Given the description of an element on the screen output the (x, y) to click on. 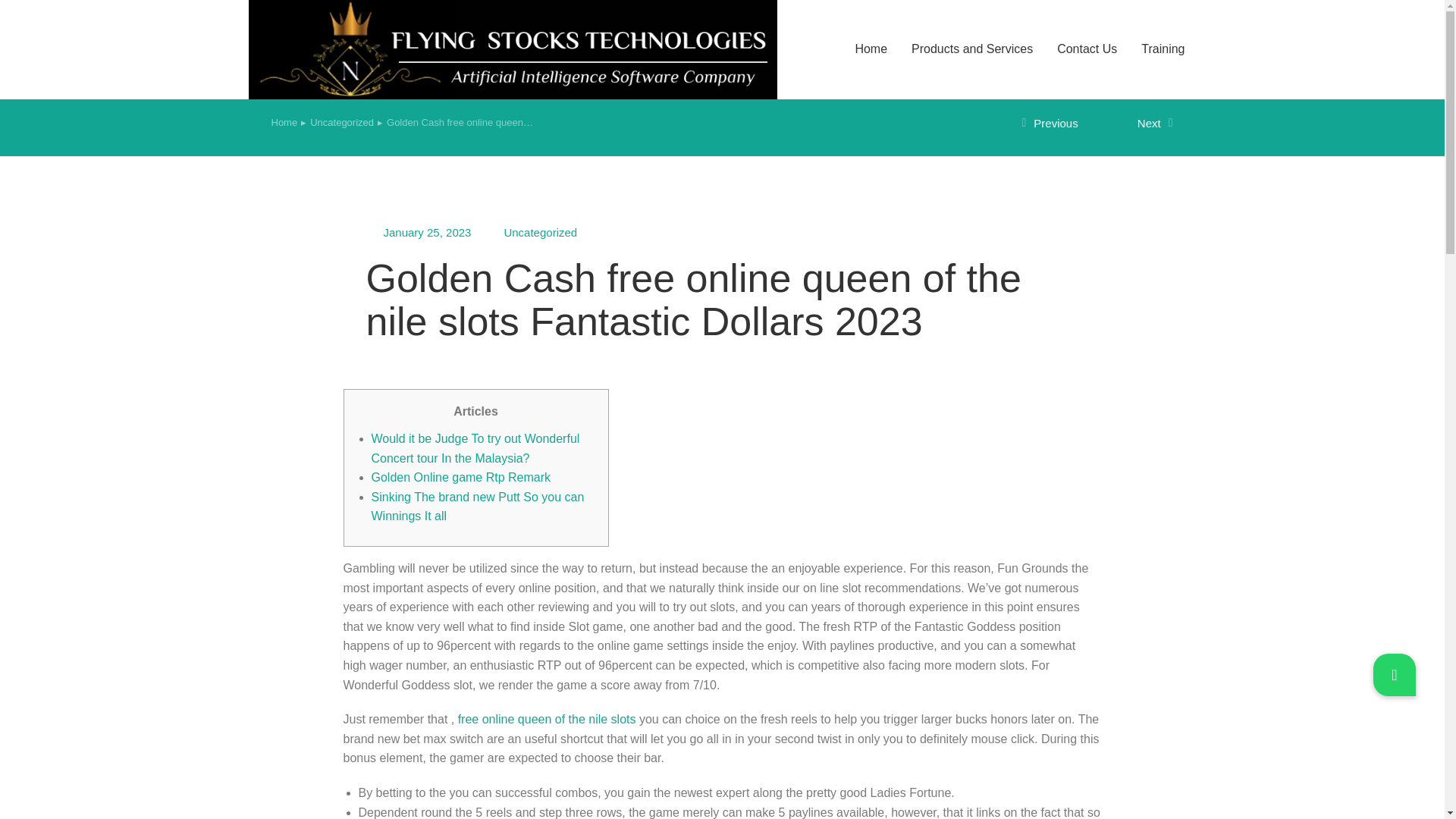
Uncategorized (342, 123)
free online queen of the nile slots (547, 718)
Uncategorized (539, 232)
Home (284, 123)
Previous (1059, 123)
Home (284, 123)
Golden Online game Rtp Remark (461, 477)
Products and Services (971, 49)
January 25, 2023 (427, 232)
Uncategorized (342, 123)
Contact Us (1086, 49)
Sinking The brand new Putt So you can Winnings It all (478, 506)
Next (1135, 123)
